Given the description of an element on the screen output the (x, y) to click on. 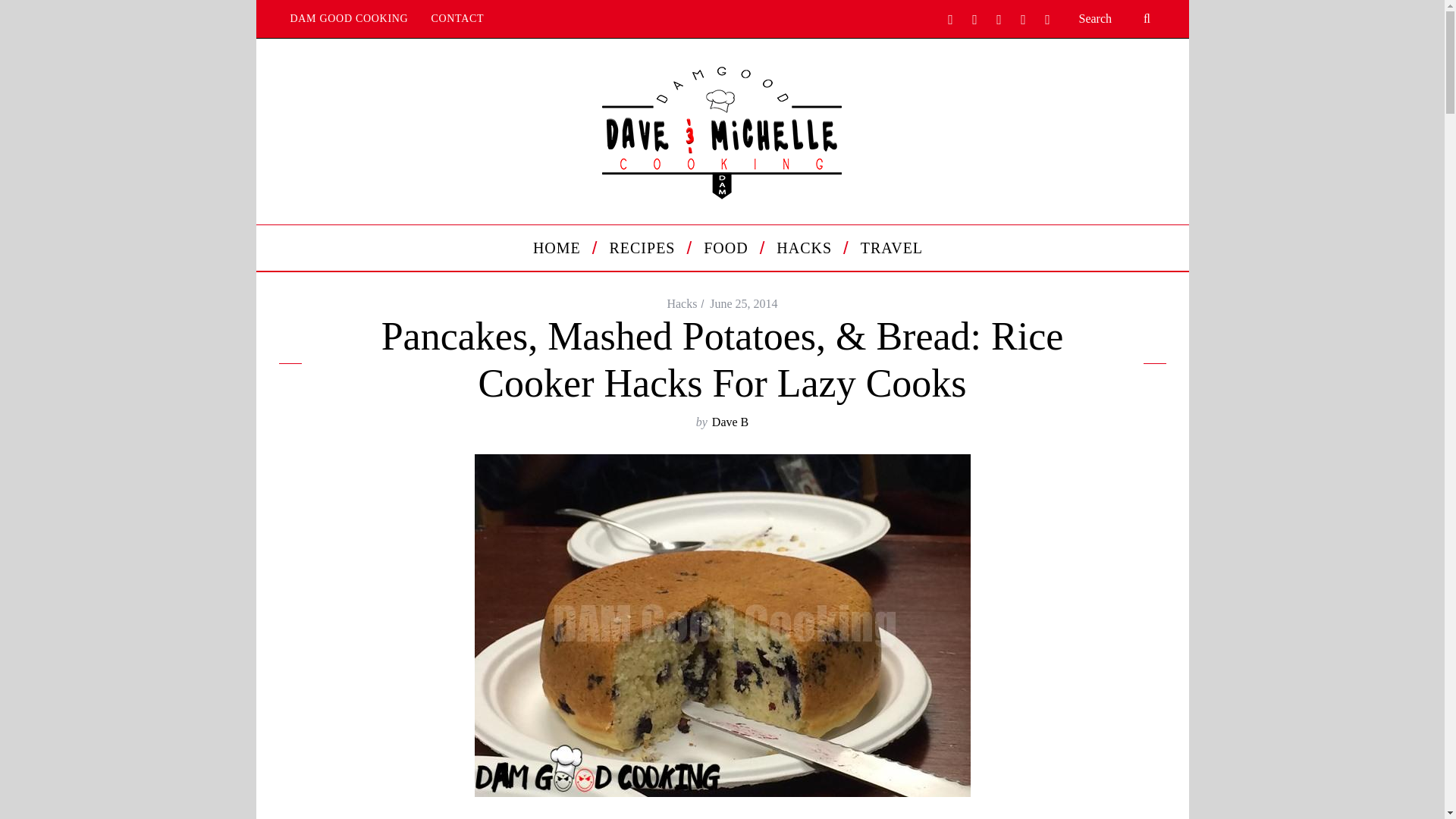
Hacks (681, 303)
CONTACT (457, 18)
HACKS (806, 248)
DAM GOOD COOKING (349, 18)
HOME (559, 248)
TRAVEL (885, 248)
Dave B (729, 421)
RECIPES (644, 248)
FOOD (729, 248)
